Given the description of an element on the screen output the (x, y) to click on. 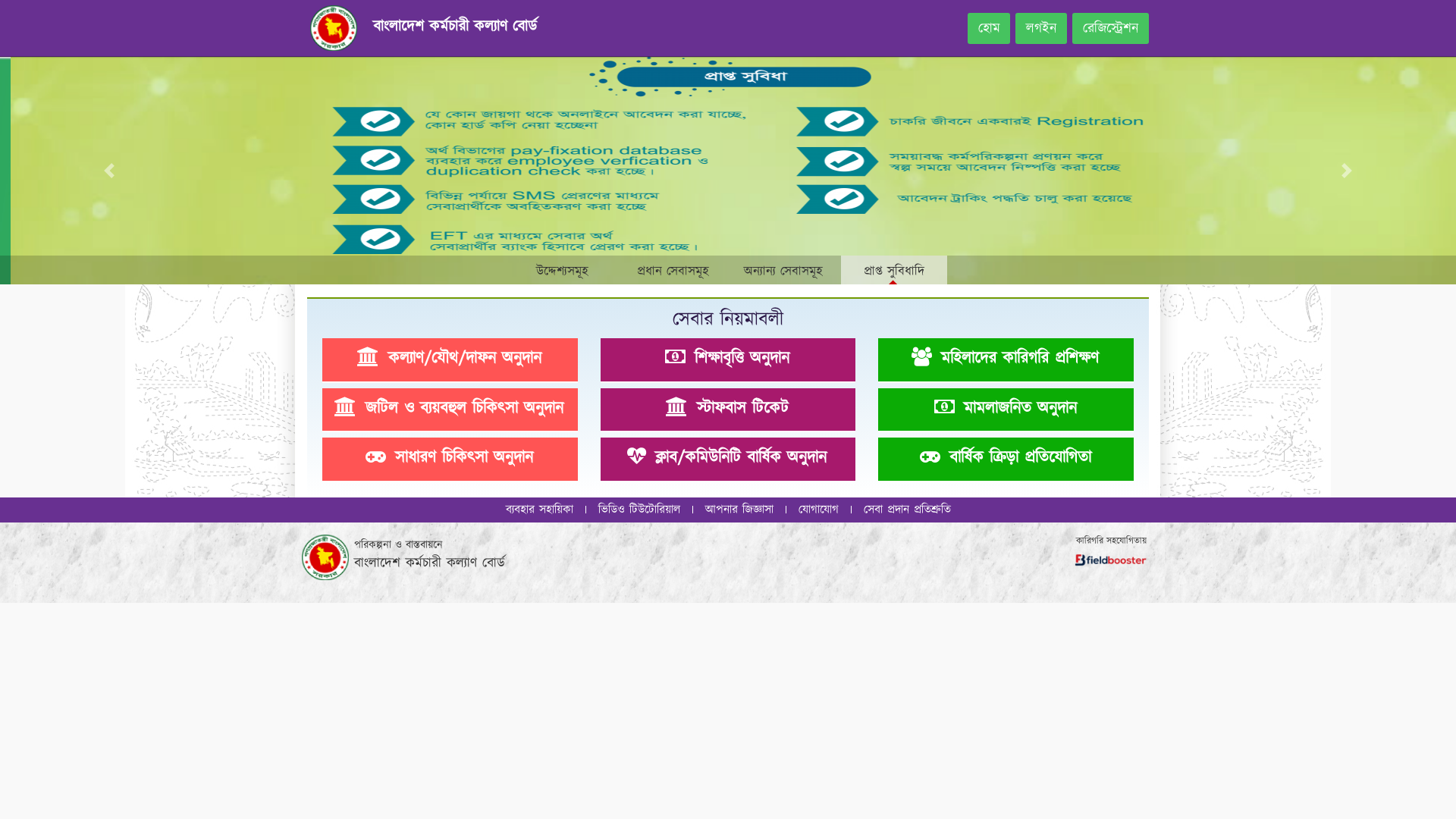
Previous Element type: text (109, 170)
